Given the description of an element on the screen output the (x, y) to click on. 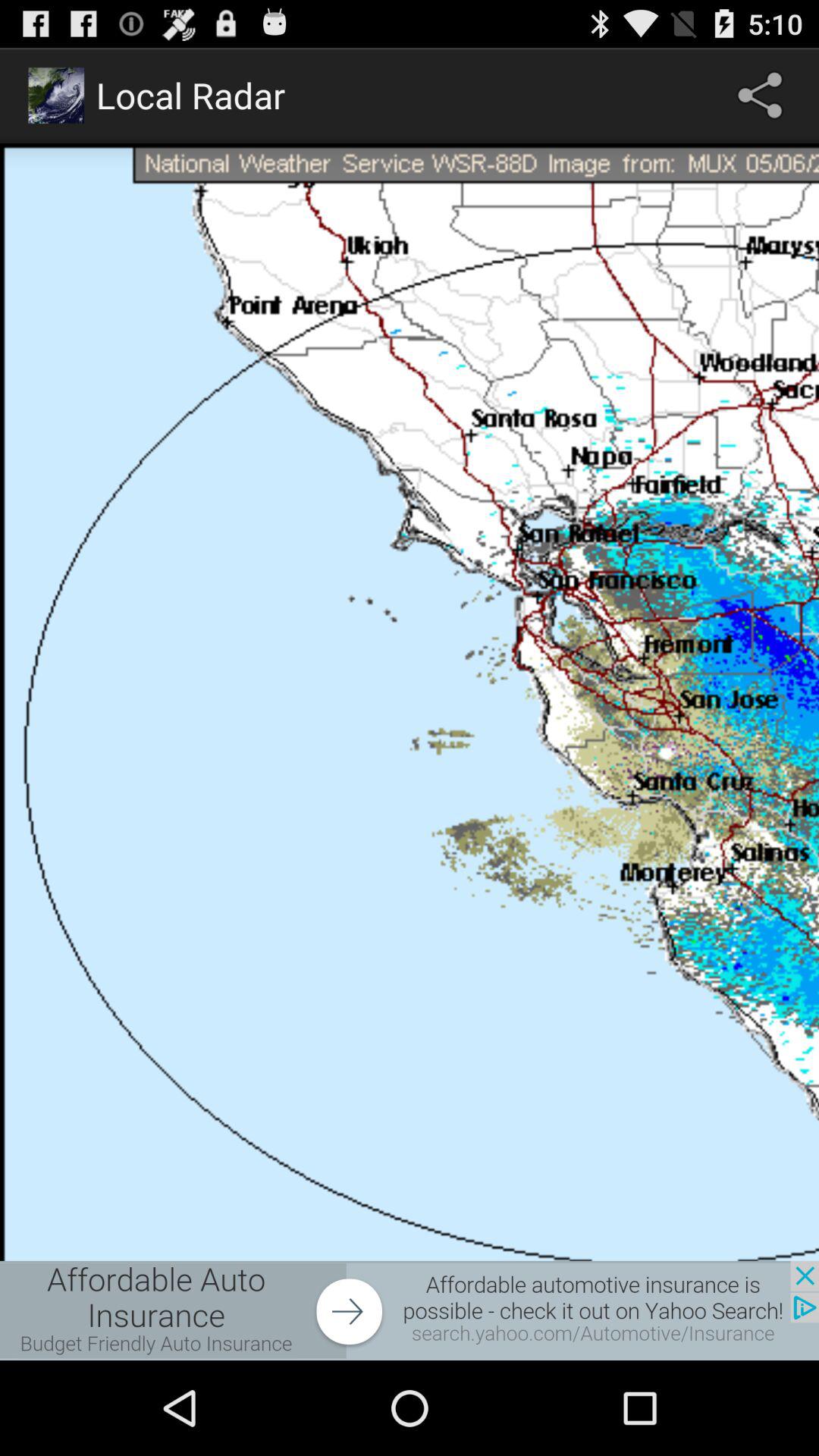
advertisement (409, 1310)
